Given the description of an element on the screen output the (x, y) to click on. 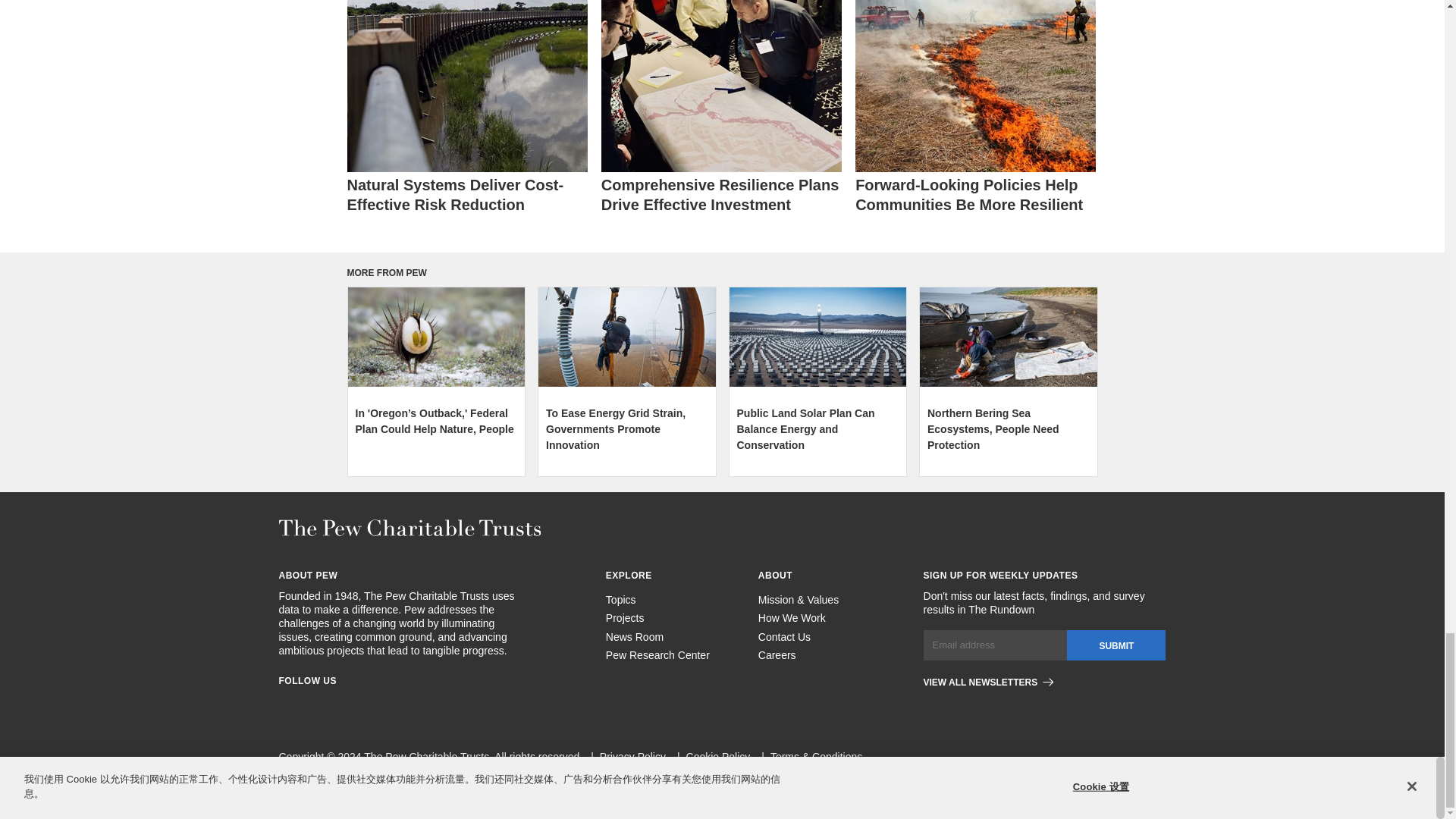
RSS (394, 704)
LinkedIn (340, 704)
Instagram (312, 704)
Solar panels in a desert in front of a mountain (818, 336)
Facebook (285, 704)
